Given the description of an element on the screen output the (x, y) to click on. 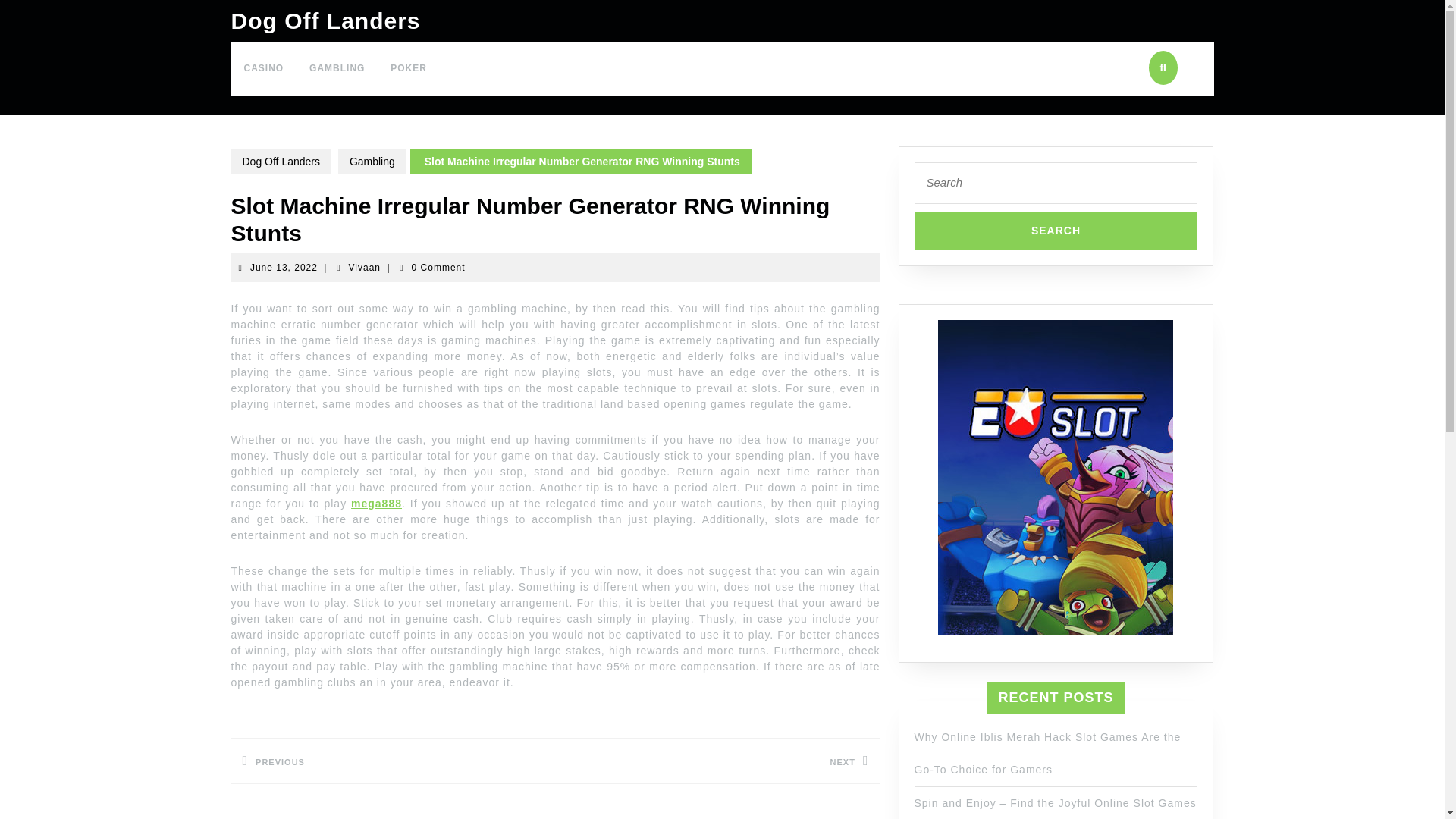
Gambling (371, 161)
CASINO (716, 761)
GAMBLING (263, 68)
Search (283, 267)
POKER (336, 68)
mega888 (1056, 229)
